Given the description of an element on the screen output the (x, y) to click on. 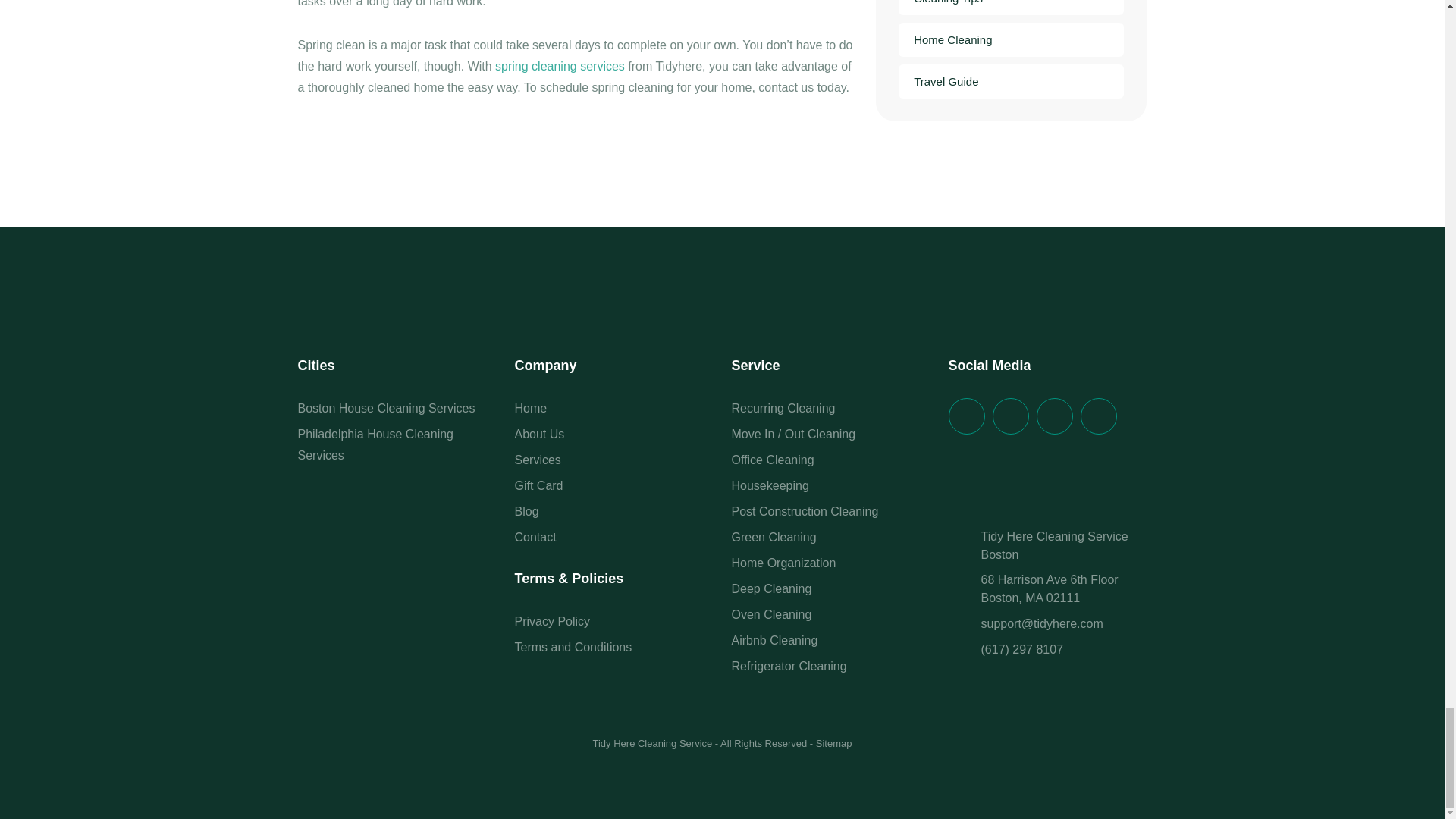
Linkedin (1053, 416)
Twitter (1009, 416)
FaceBook (965, 416)
Instagram (1098, 416)
